Given the description of an element on the screen output the (x, y) to click on. 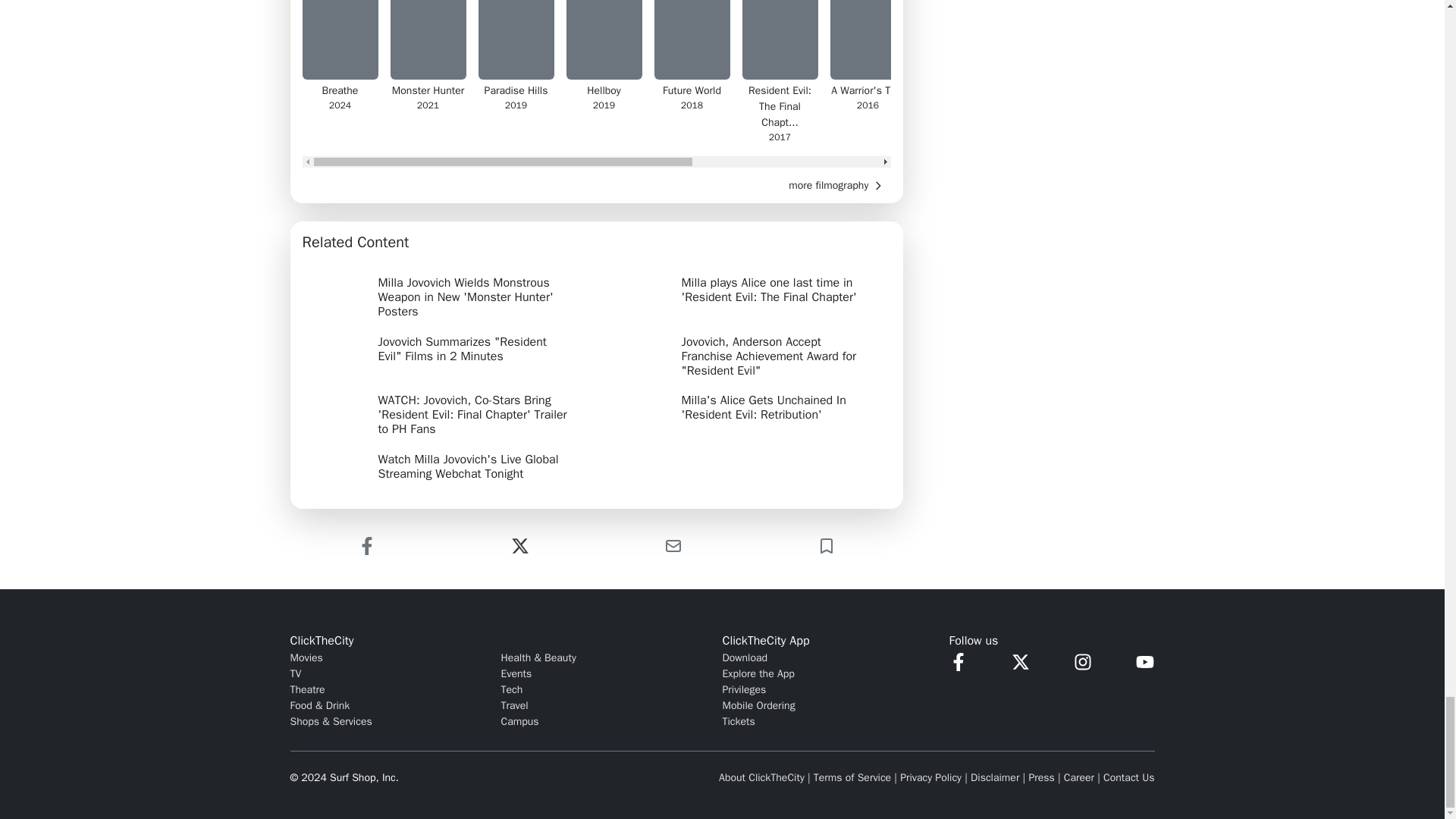
Watch Milla Jovovich's Live Global Streaming Webchat Tonight (443, 466)
Milla's Alice Gets Unchained In 'Resident Evil: Retribution' (747, 410)
E-mail (672, 546)
Bookmark (825, 546)
Jovovich Summarizes Resident Evil Films in 2 Minutes (443, 351)
Facebook (366, 546)
